Given the description of an element on the screen output the (x, y) to click on. 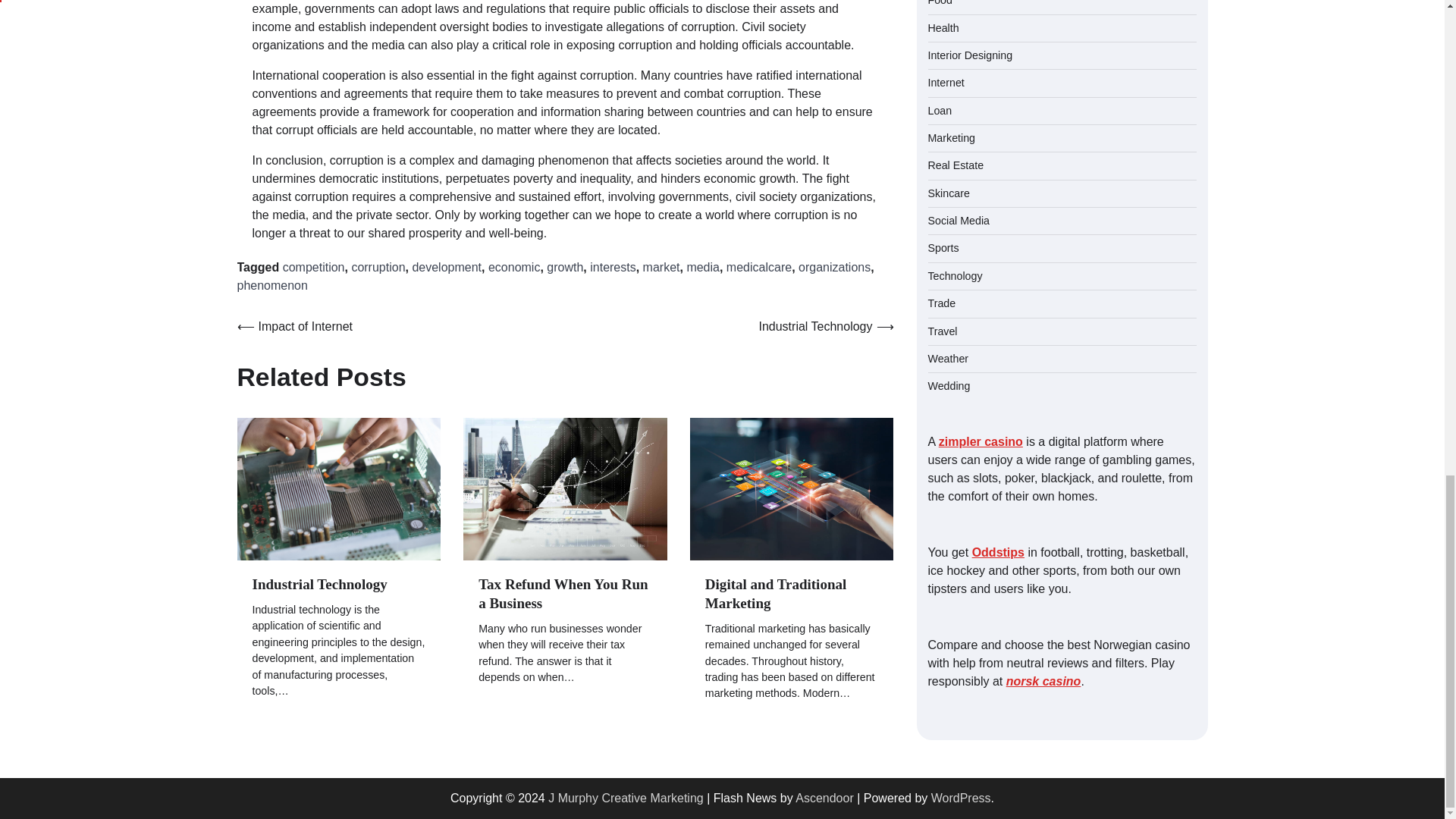
growth (565, 267)
organizations (833, 267)
market (661, 267)
phenomenon (271, 285)
development (446, 267)
corruption (377, 267)
Industrial Technology (319, 584)
economic (513, 267)
Digital and Traditional Marketing (774, 593)
medicalcare (759, 267)
